Given the description of an element on the screen output the (x, y) to click on. 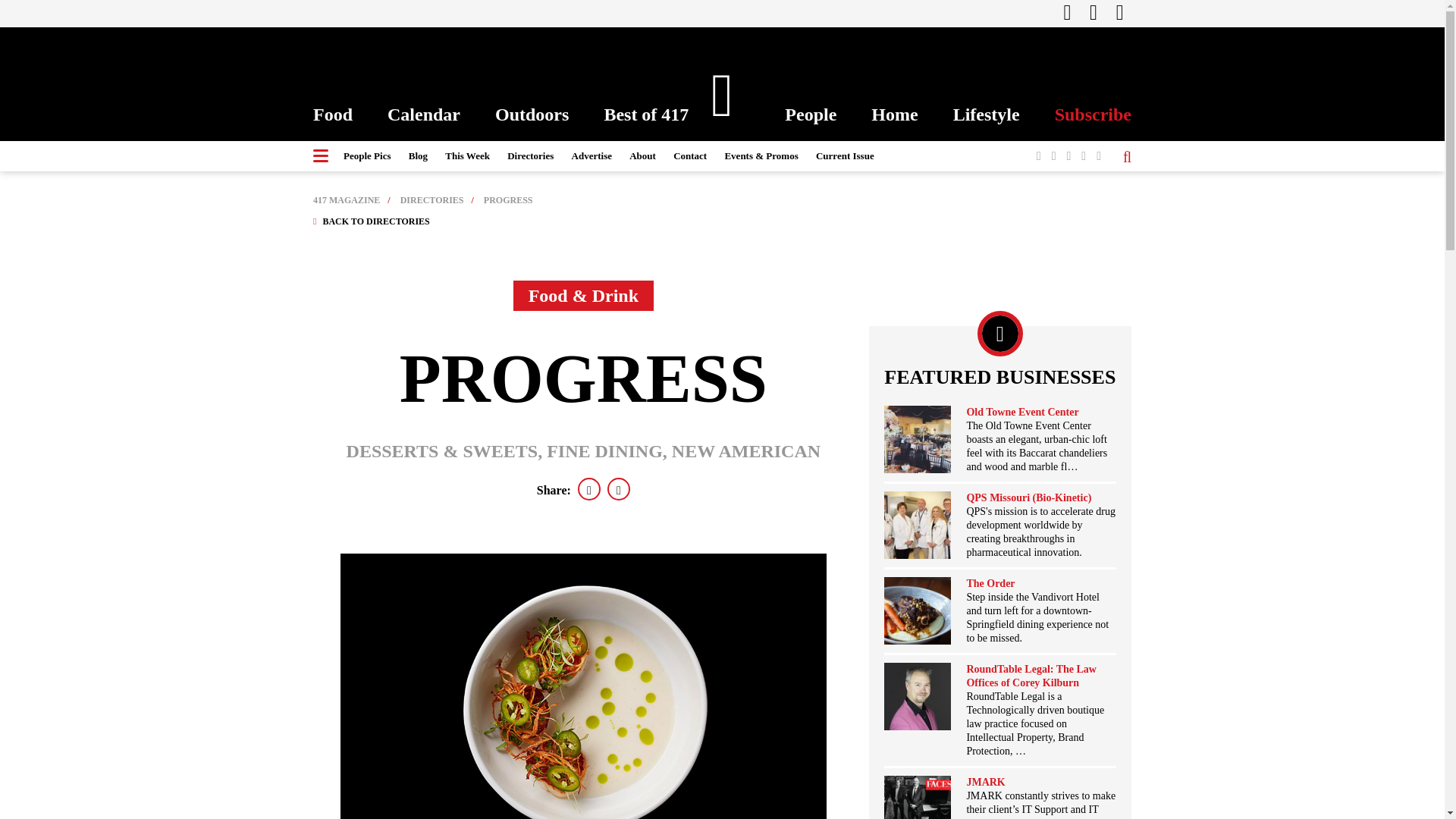
417 Magazine Events Calendar (423, 114)
People in 417-land (809, 114)
417 Home (893, 114)
This Week (467, 155)
Calendar (423, 114)
Best of 417 (646, 114)
Advertise (591, 155)
People Pics (366, 155)
Best of 417 (646, 114)
Current Issue (845, 155)
